Given the description of an element on the screen output the (x, y) to click on. 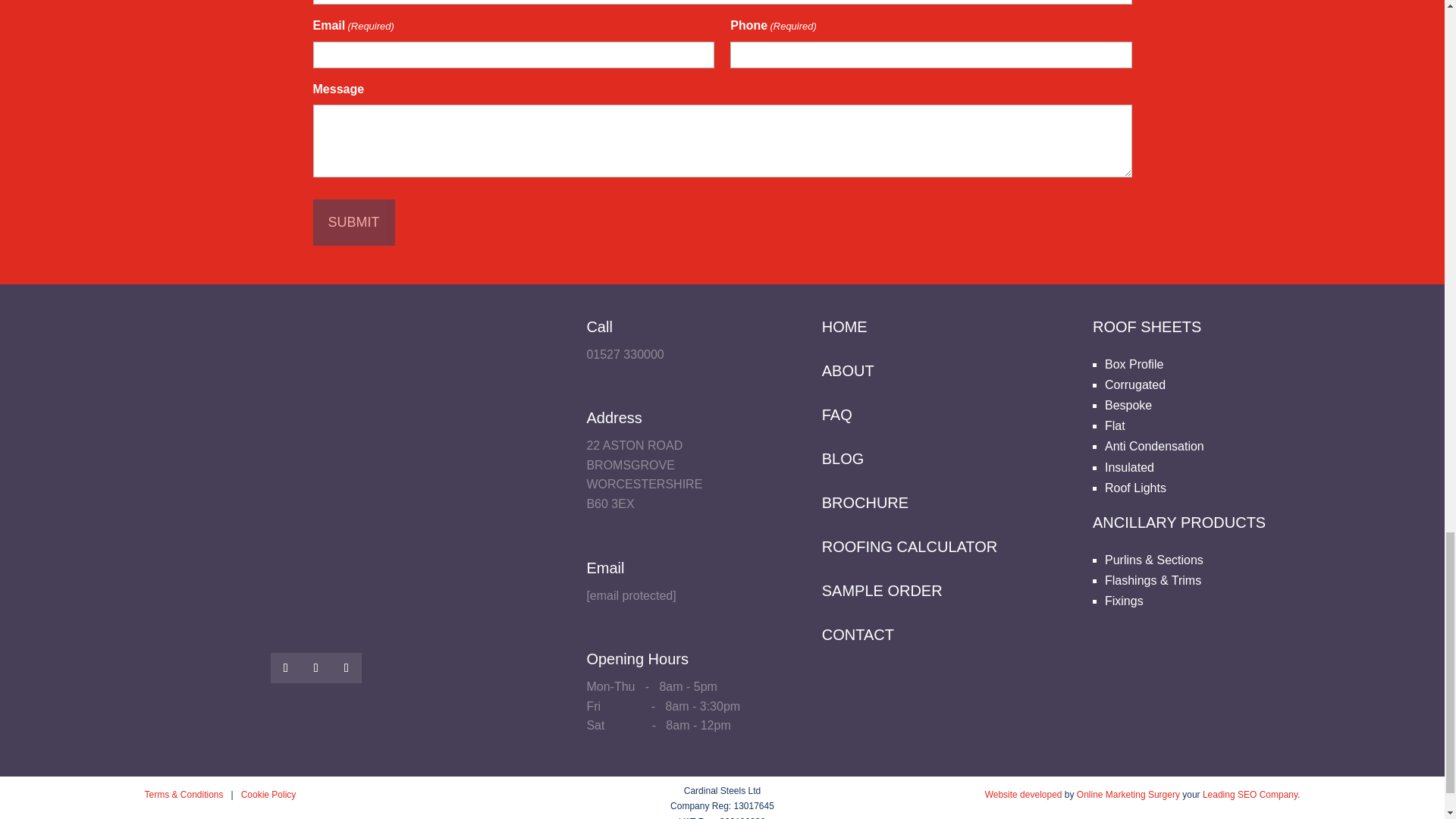
Follow on Instagram (316, 666)
Follow on Facebook (285, 666)
reversed logo (315, 452)
Submit (353, 222)
Follow on LinkedIn (346, 666)
